Given the description of an element on the screen output the (x, y) to click on. 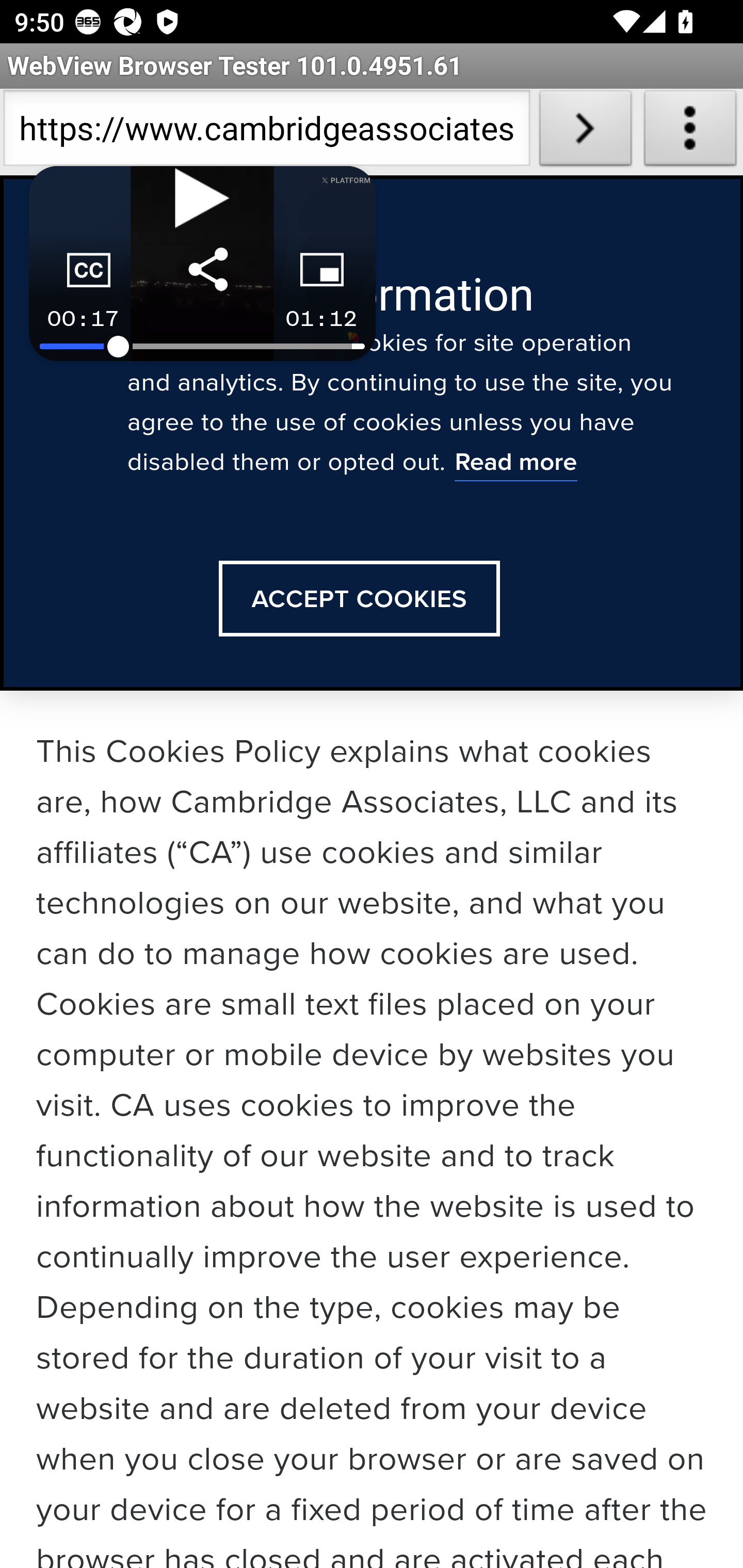
Load URL (585, 132)
About WebView (690, 132)
Read more (515, 464)
ACCEPT COOKIES (359, 598)
